Given the description of an element on the screen output the (x, y) to click on. 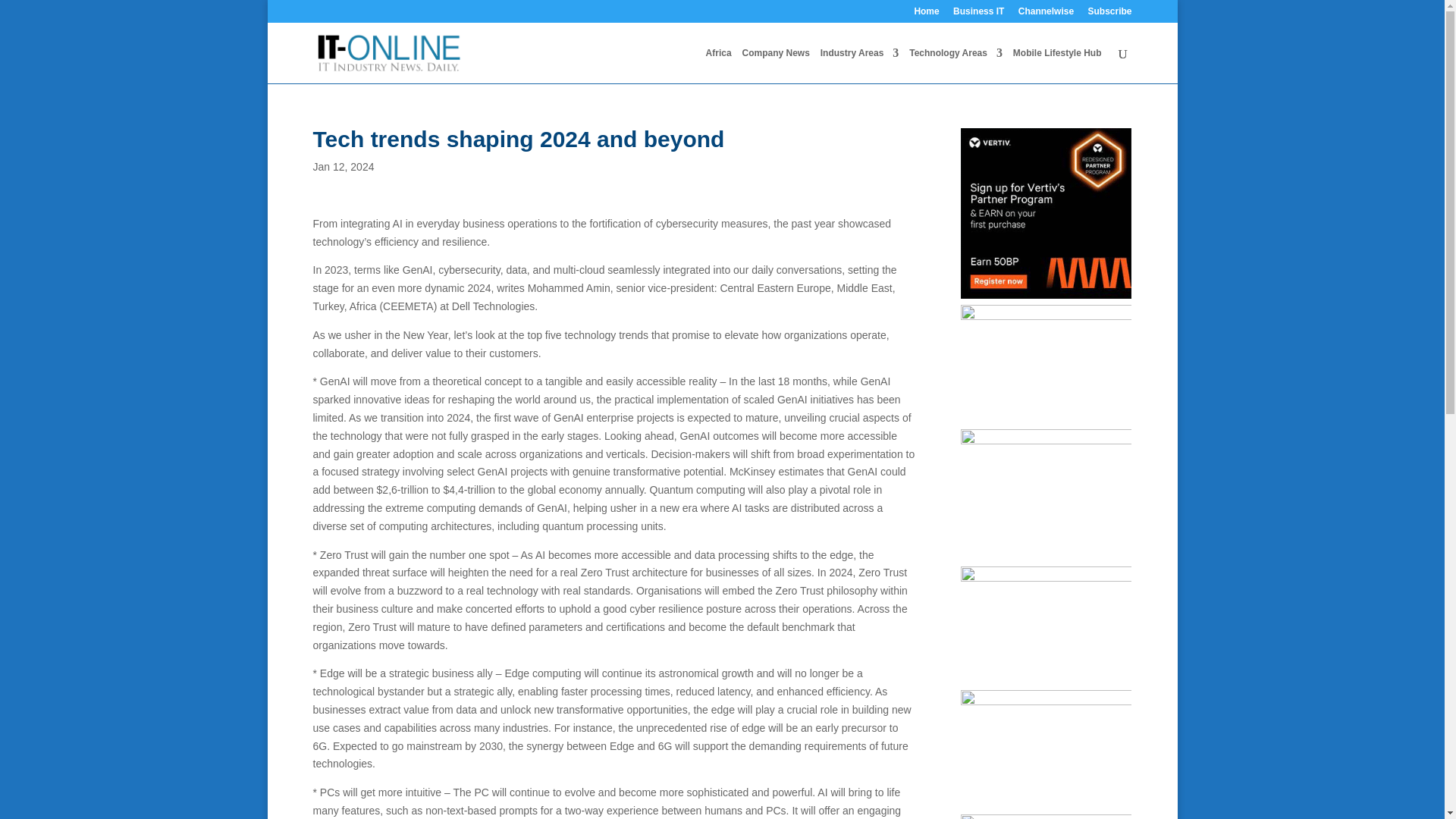
Industry Areas (860, 65)
Business IT (978, 14)
Subscribe (1109, 14)
Home (926, 14)
Company News (775, 65)
Channelwise (1045, 14)
Technology Areas (955, 65)
